Given the description of an element on the screen output the (x, y) to click on. 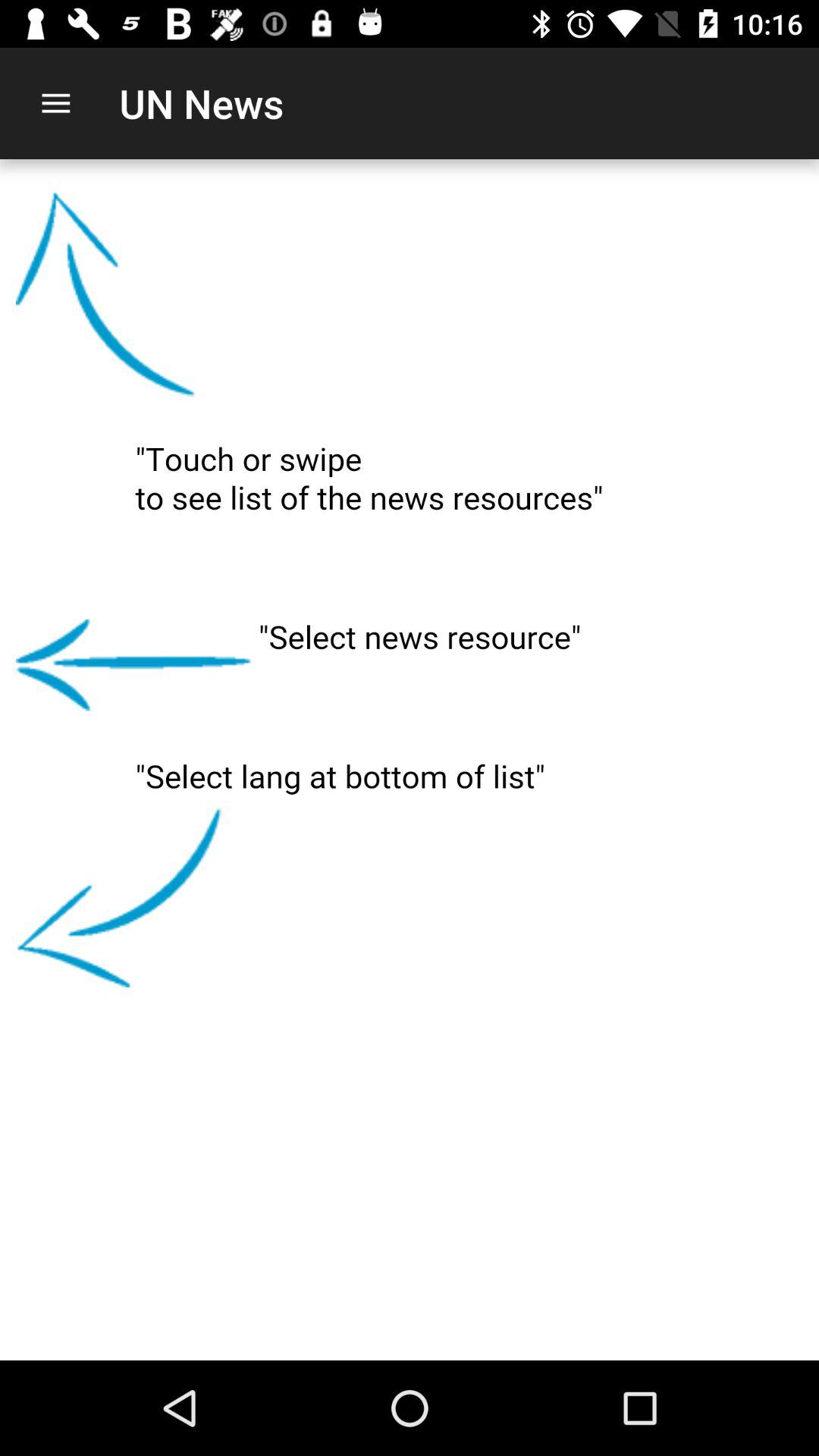
choose the item at the center (409, 759)
